Given the description of an element on the screen output the (x, y) to click on. 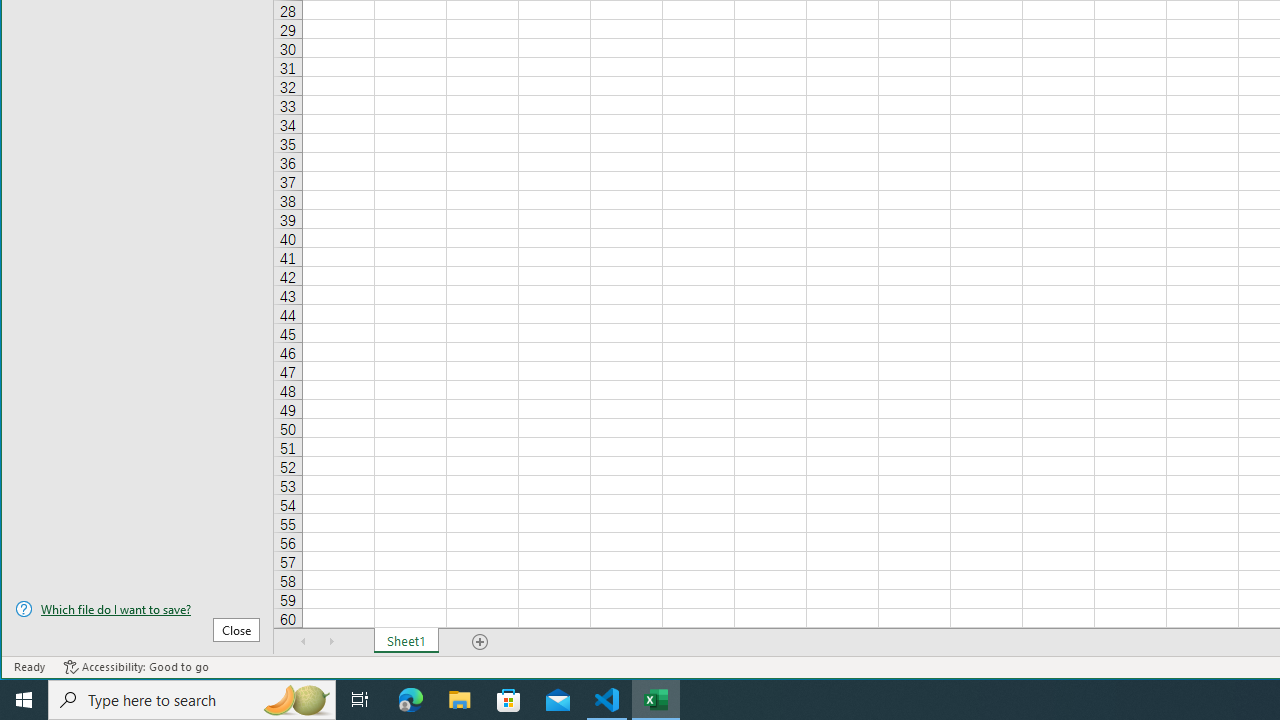
Task View (359, 699)
Excel - 1 running window (656, 699)
